Given the description of an element on the screen output the (x, y) to click on. 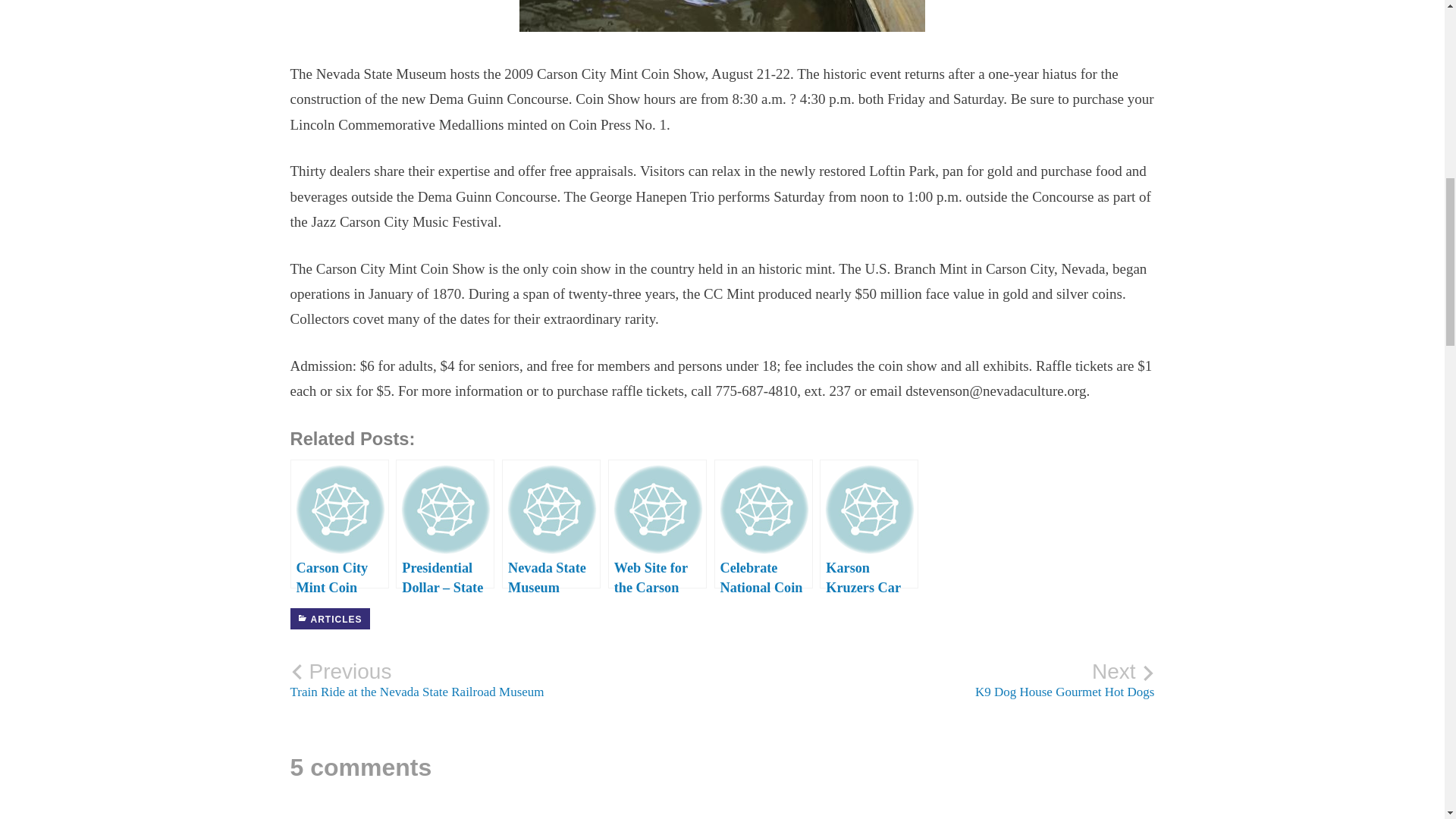
ARTICLES (505, 679)
